Given the description of an element on the screen output the (x, y) to click on. 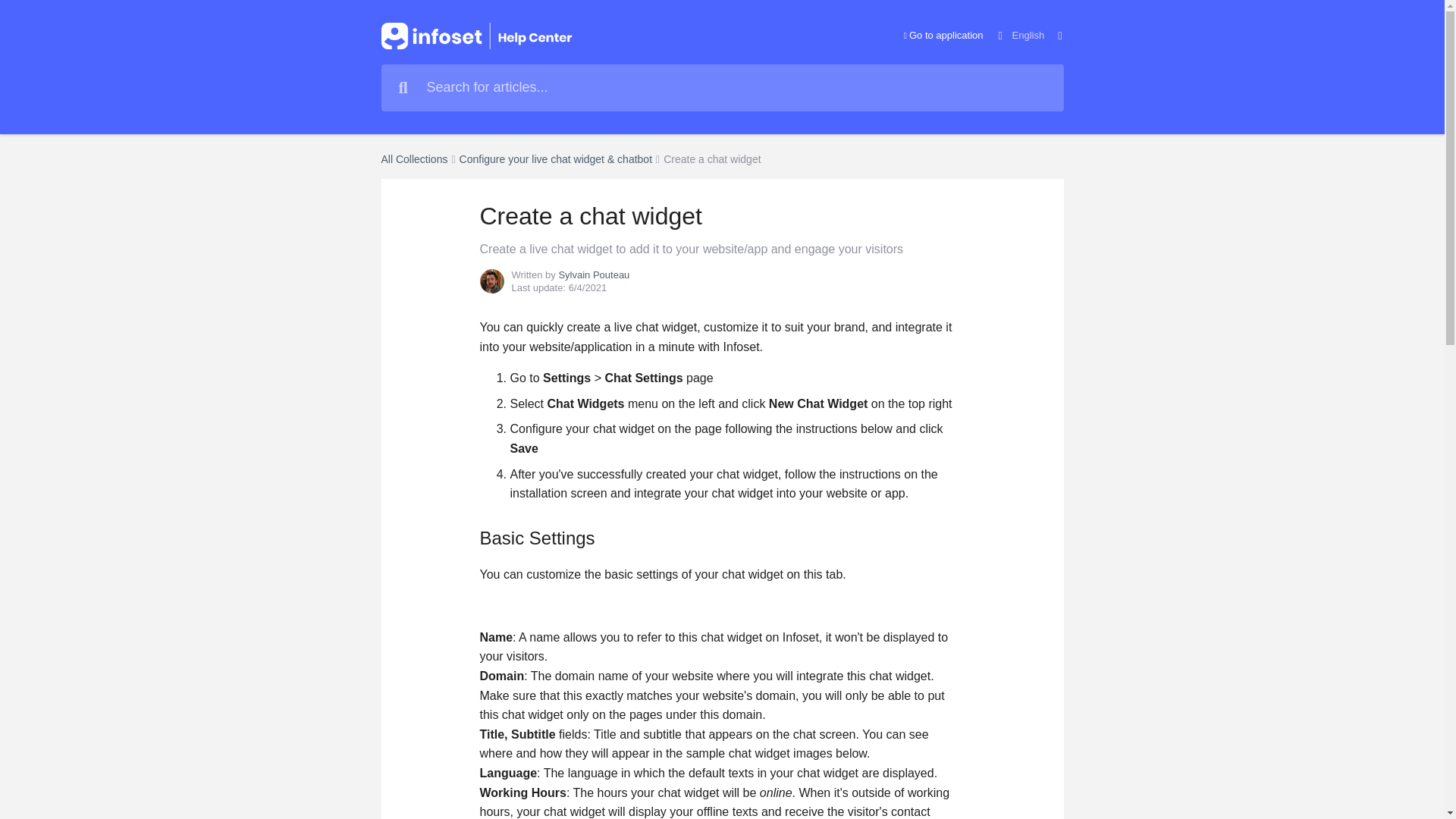
All Collections (413, 159)
Go to application (944, 35)
